Given the description of an element on the screen output the (x, y) to click on. 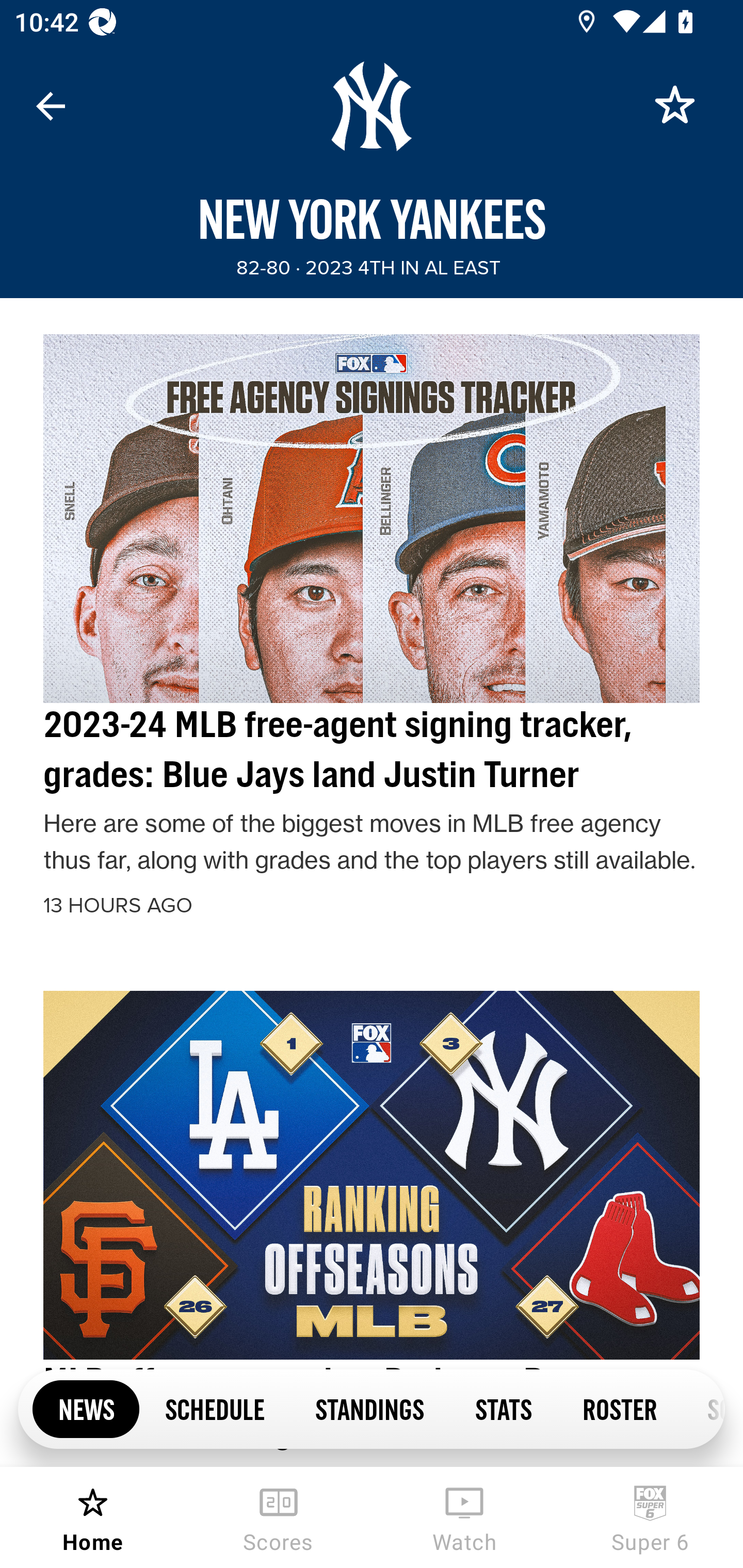
Navigate up (50, 106)
82-80 · 2023 4TH IN AL EAST (368, 267)
SCHEDULE (214, 1408)
STANDINGS (369, 1408)
STATS (502, 1408)
ROSTER (619, 1408)
Scores (278, 1517)
Watch (464, 1517)
Super 6 (650, 1517)
